Given the description of an element on the screen output the (x, y) to click on. 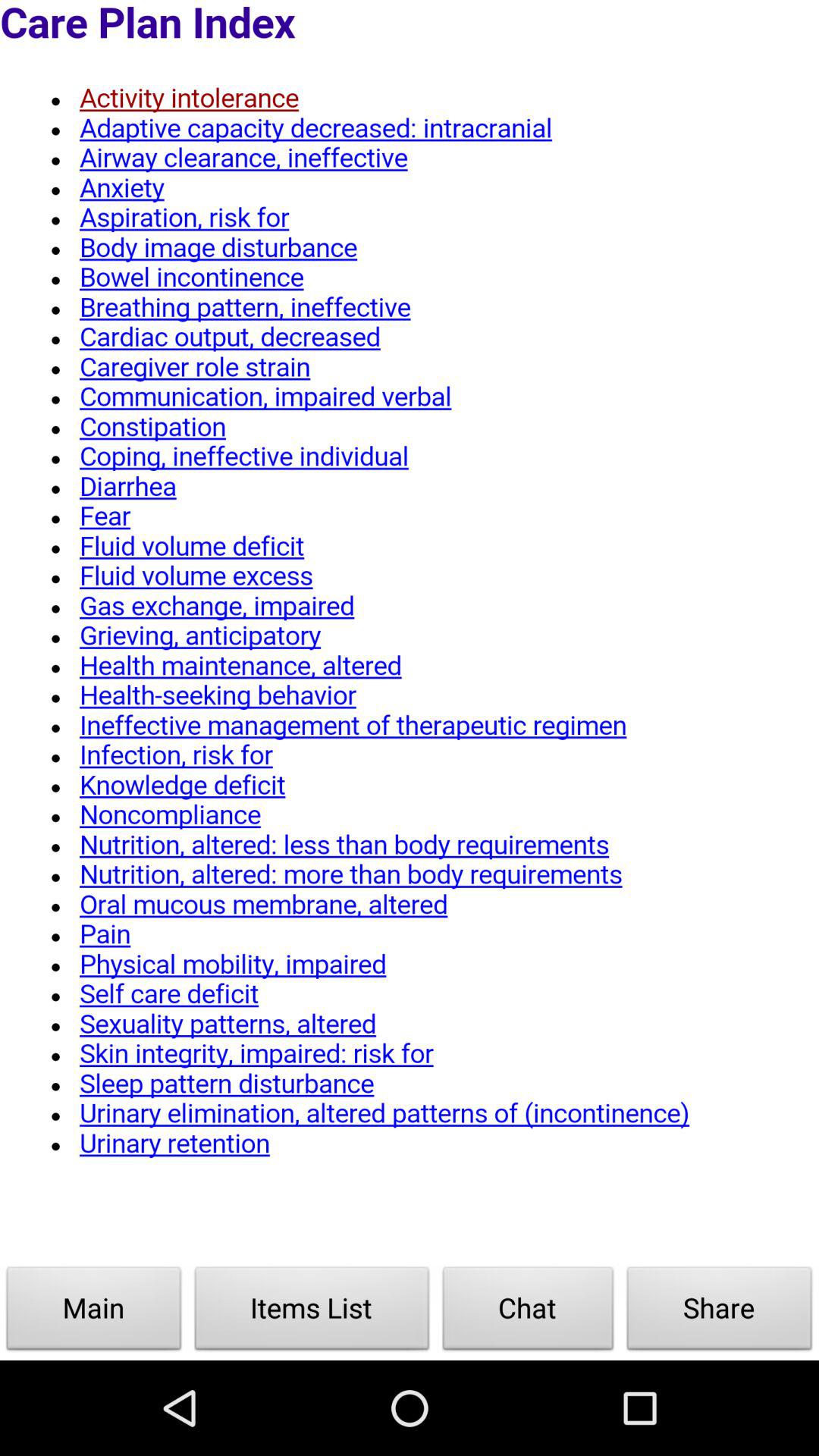
various care plans to choose from (409, 632)
